Given the description of an element on the screen output the (x, y) to click on. 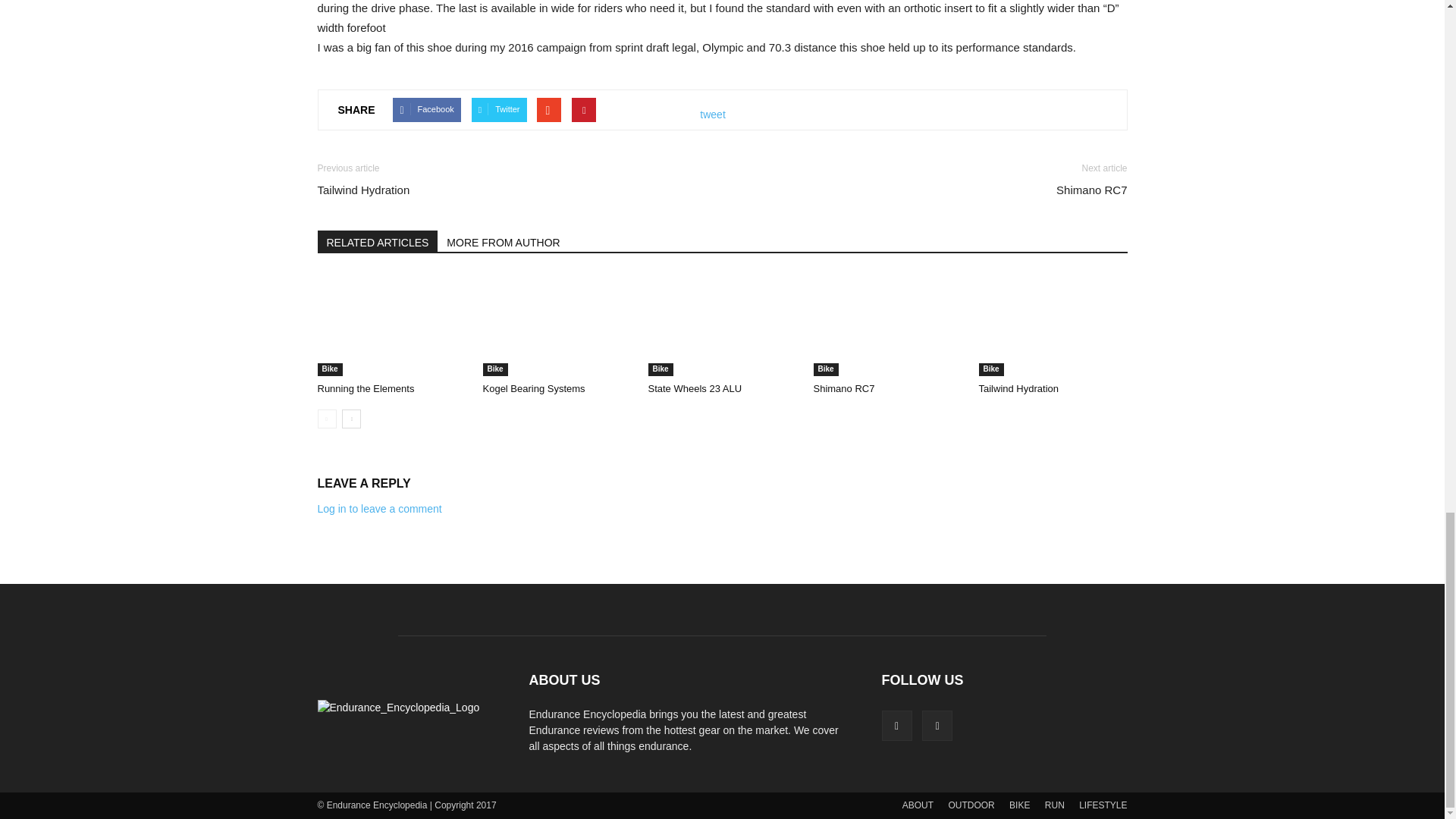
Twitter (499, 109)
Kogel Bearing Systems (533, 388)
Facebook (426, 109)
Tailwind Hydration (363, 189)
State Wheels 23 ALU (721, 324)
Kogel Bearing Systems (555, 324)
State Wheels 23 ALU (694, 388)
Shimano RC7 (1091, 189)
Running the Elements (391, 324)
tweet (712, 114)
Running the Elements (365, 388)
